Given the description of an element on the screen output the (x, y) to click on. 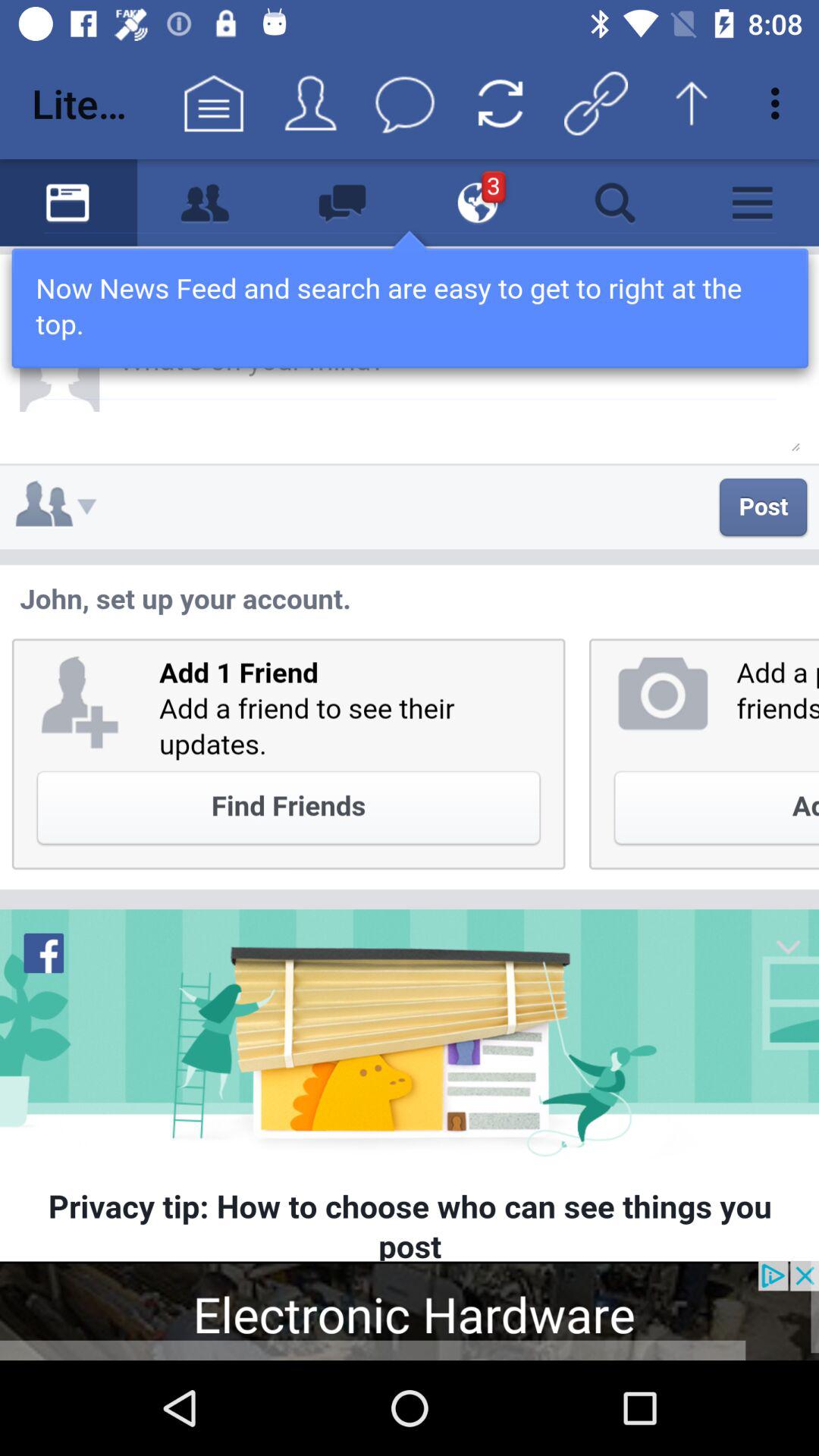
screen (409, 709)
